Given the description of an element on the screen output the (x, y) to click on. 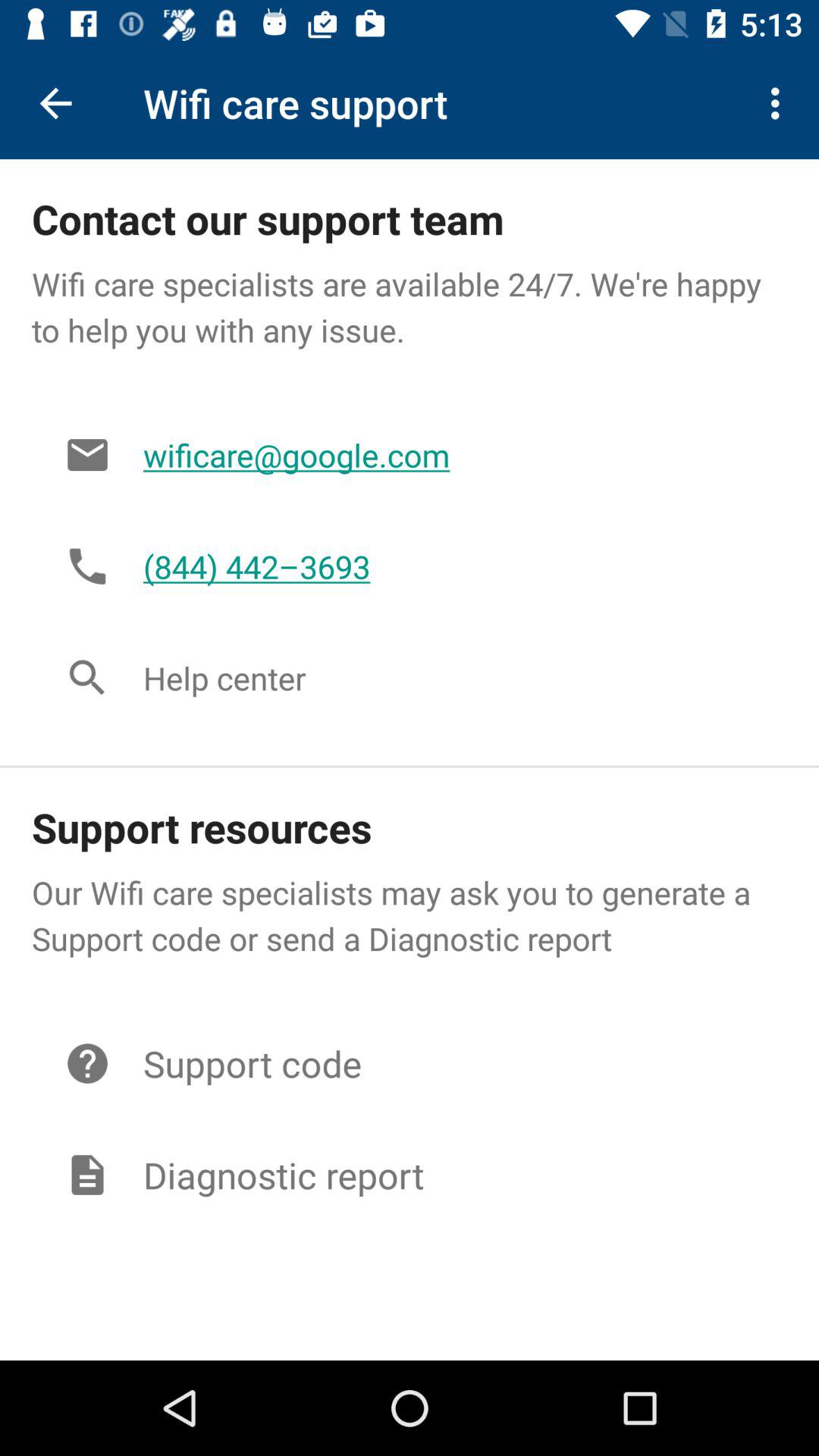
turn on the icon next to wifi care support icon (55, 103)
